Given the description of an element on the screen output the (x, y) to click on. 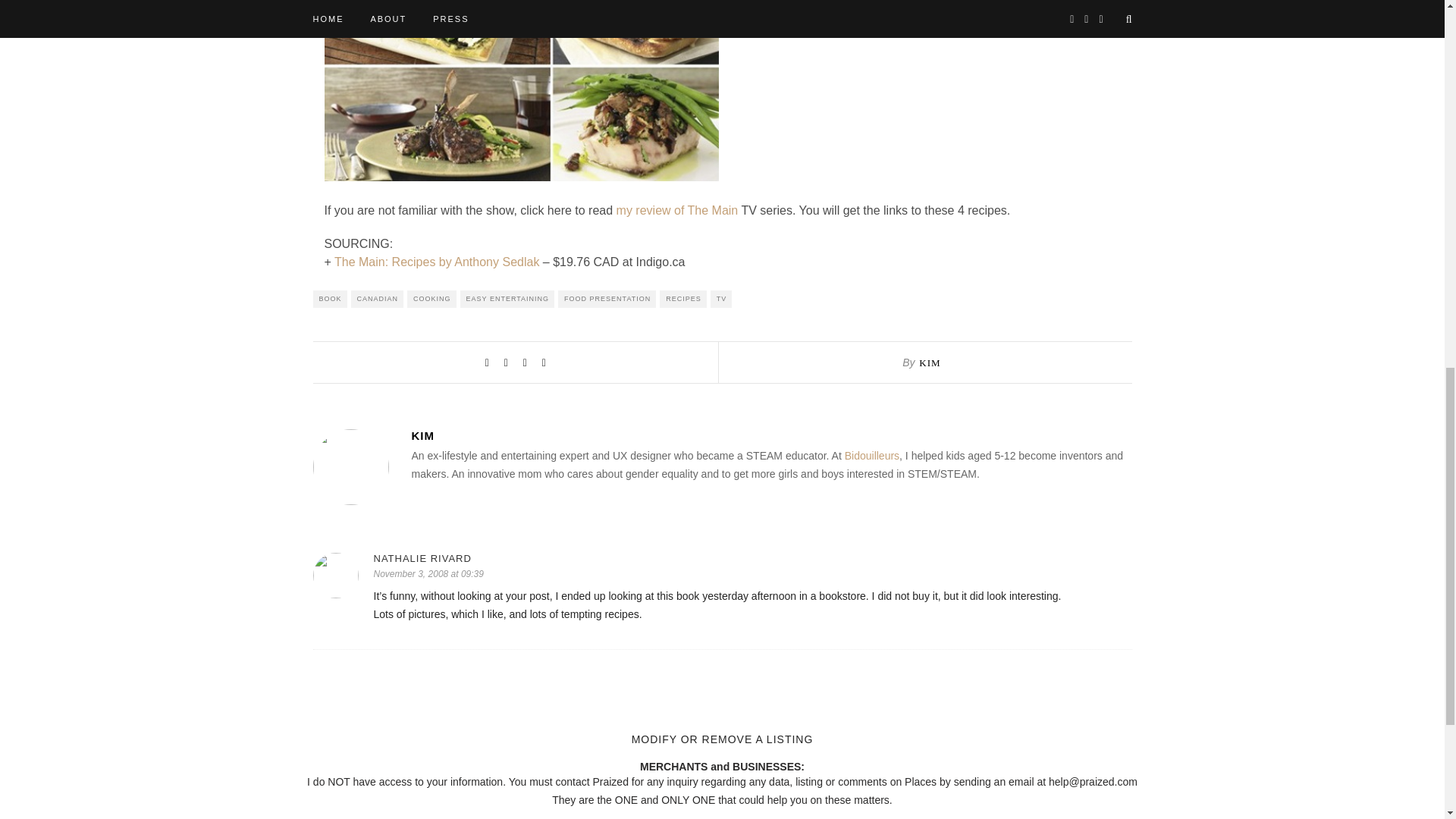
CANADIAN (377, 298)
COOKING (432, 298)
Posts by Kim (770, 435)
my review of The Main (676, 210)
NATHALIE RIVARD (751, 558)
TV (721, 298)
RECIPES (682, 298)
KIM (929, 362)
The Main: Recipes by Anthony Sedlak (436, 261)
FOOD PRESENTATION (606, 298)
